Given the description of an element on the screen output the (x, y) to click on. 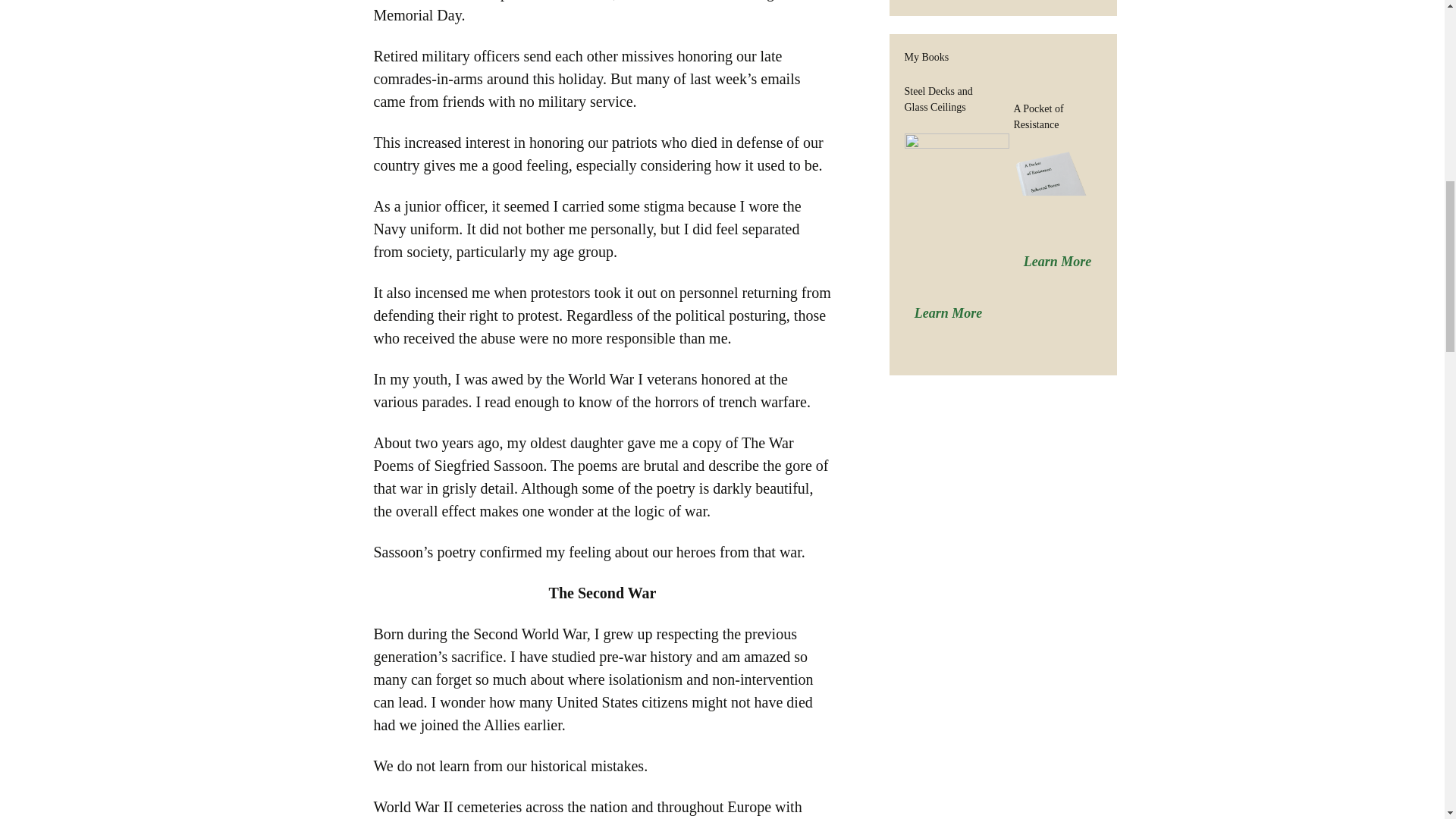
Learn More (1057, 261)
Learn More (948, 313)
